Given the description of an element on the screen output the (x, y) to click on. 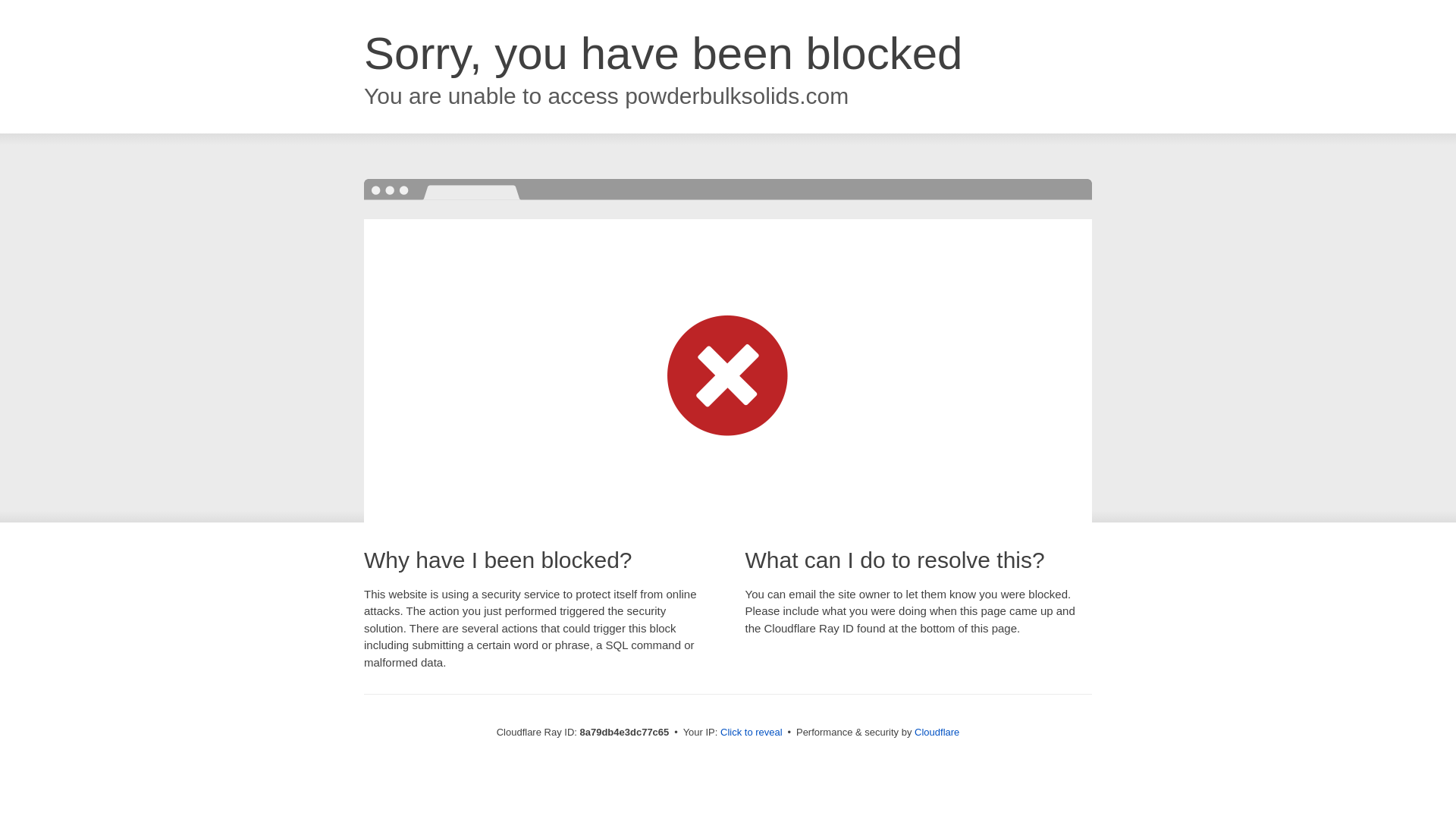
Click to reveal (751, 732)
Cloudflare (936, 731)
